Given the description of an element on the screen output the (x, y) to click on. 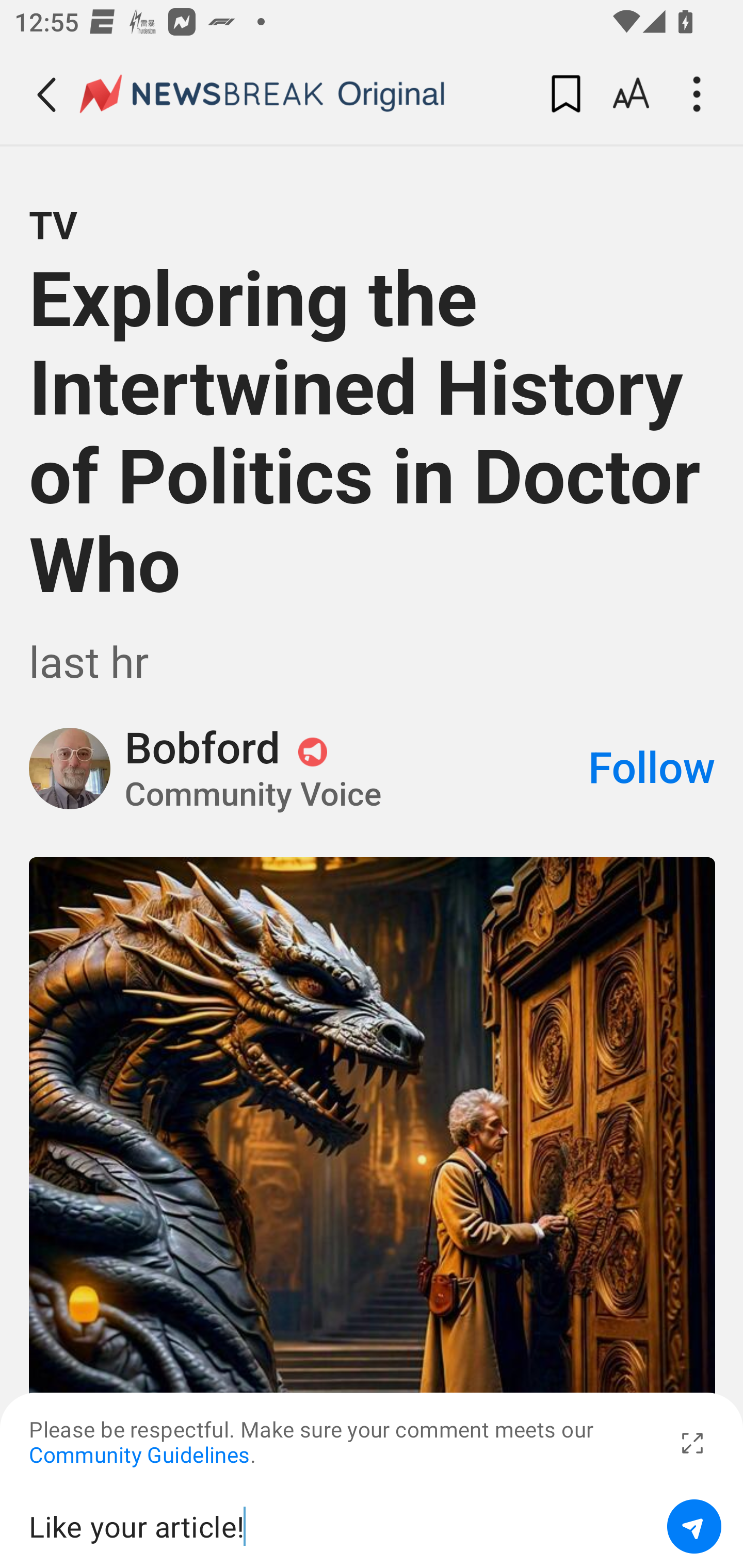
Like your article! (340, 1526)
